Given the description of an element on the screen output the (x, y) to click on. 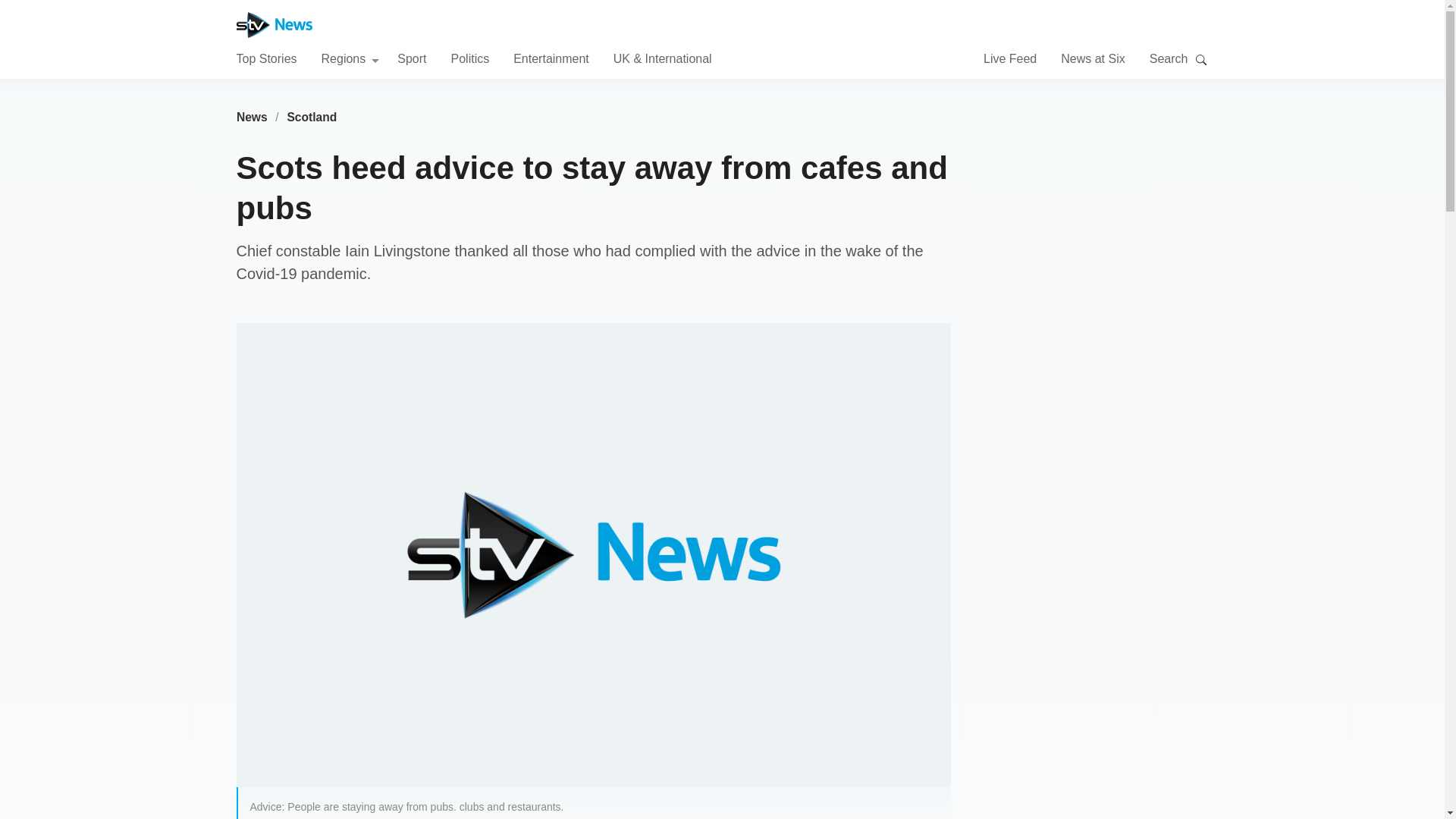
Live Feed (1010, 57)
Politics (469, 57)
Entertainment (551, 57)
News (252, 116)
Top Stories (266, 57)
Regions (350, 57)
Scotland (312, 116)
News at Six (1092, 57)
Search (1201, 59)
